Given the description of an element on the screen output the (x, y) to click on. 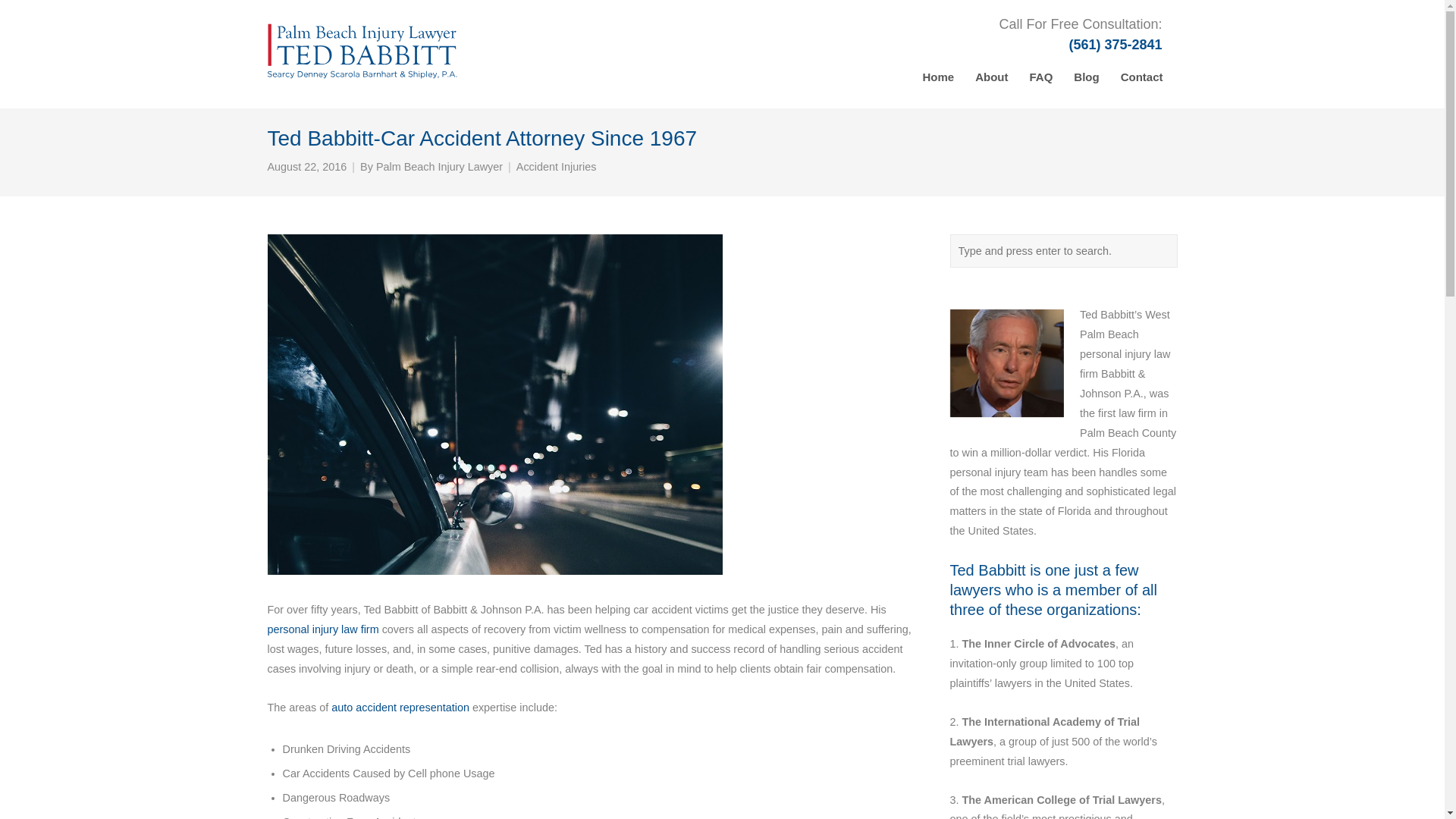
Accident Injuries (556, 166)
Palm Beach Injury Lawyer (438, 166)
auto accident representation (399, 707)
personal injury law firm (322, 629)
View all posts in Accident Injuries (556, 166)
